Given the description of an element on the screen output the (x, y) to click on. 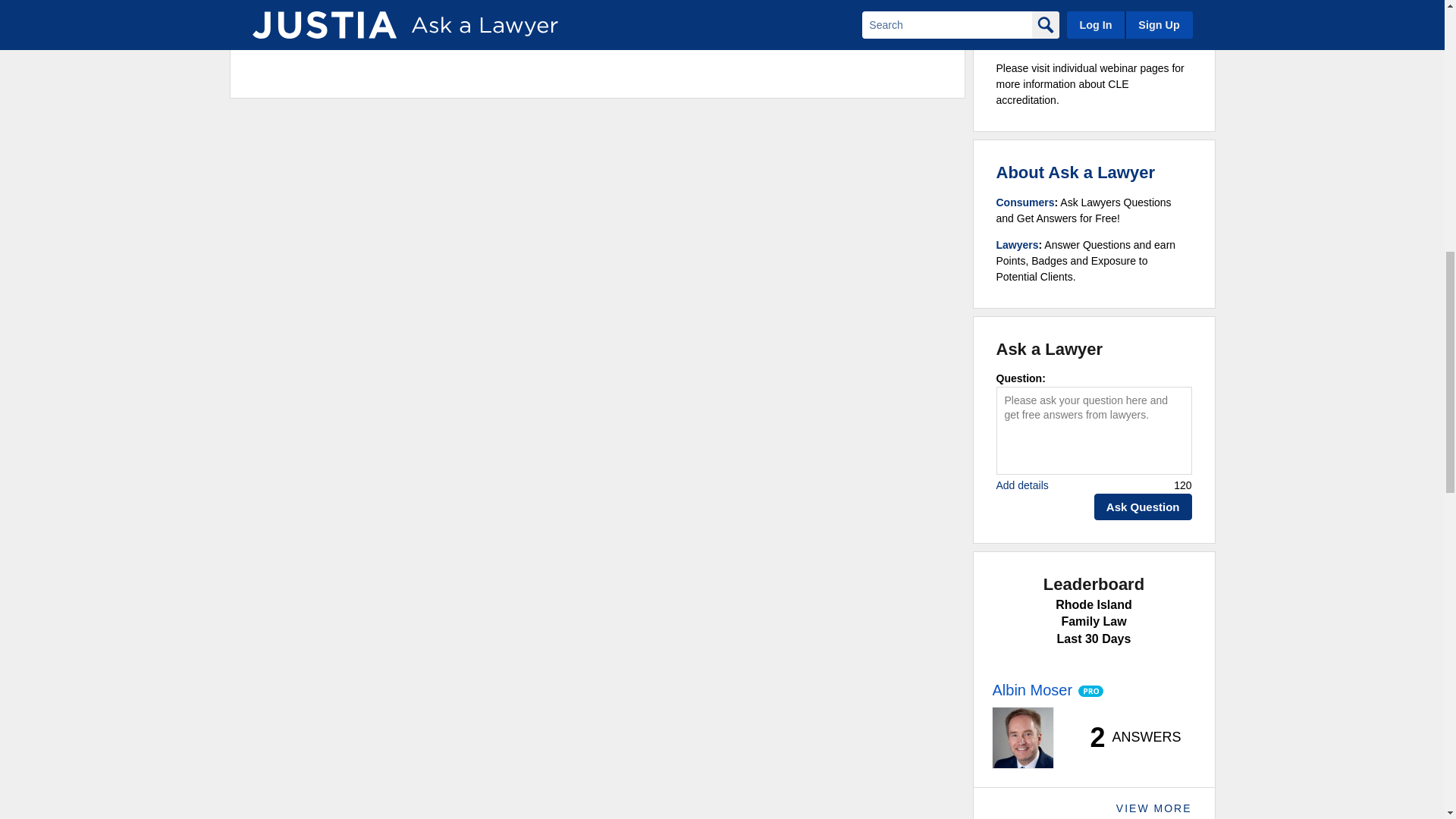
I agree with this answer (329, 12)
Ask a Lawyer - Leaderboard - Lawyer Name (1031, 689)
Ask a Lawyer - FAQs - Lawyers (1017, 244)
Ask a Lawyer - Leaderboard - Lawyer Photo (1021, 737)
Ask a Lawyer - Leaderboard - Lawyer Stats (1127, 737)
Ask a Lawyer - FAQs - Consumers (1024, 202)
